Given the description of an element on the screen output the (x, y) to click on. 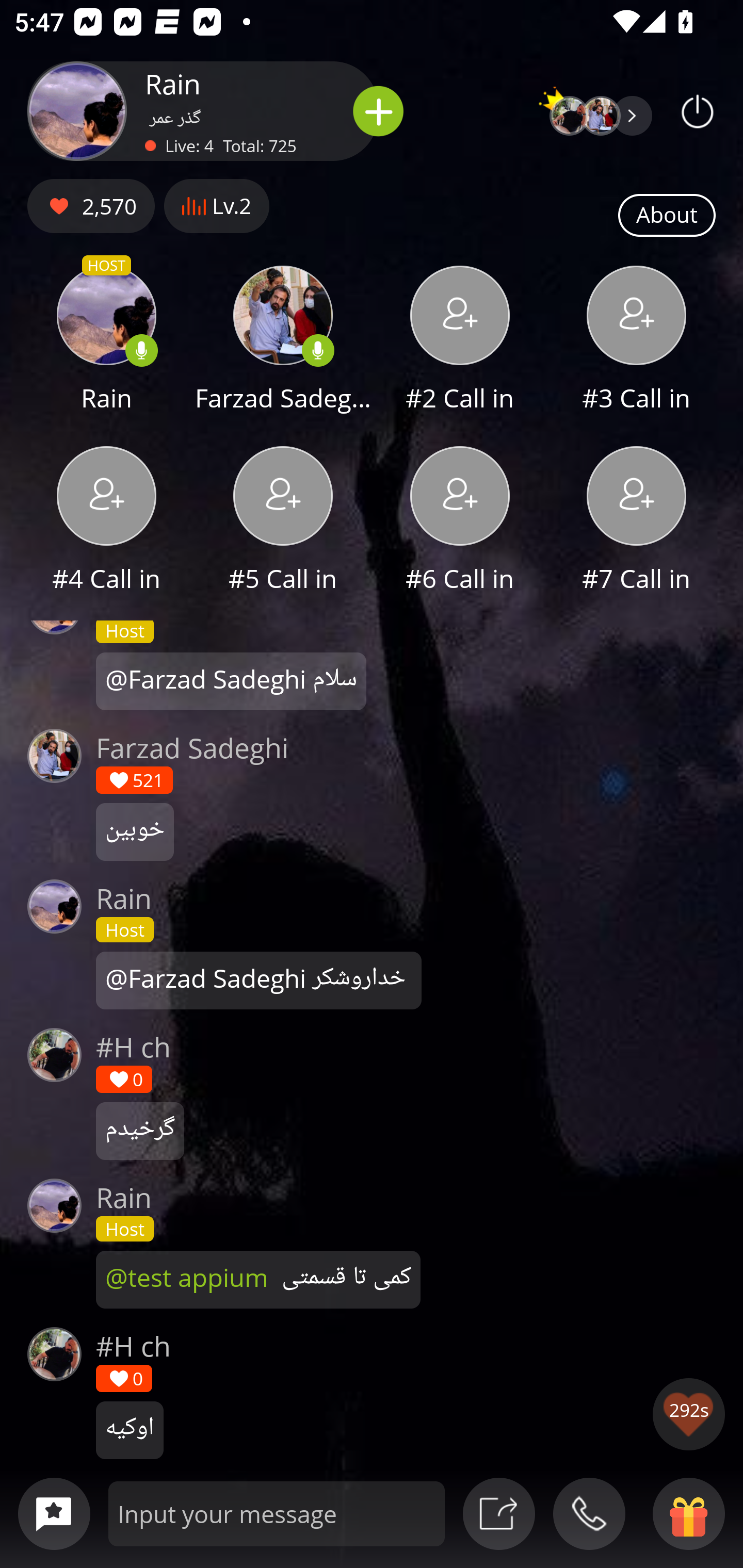
Podbean (697, 111)
About (666, 215)
HOST Rain (105, 340)
Farzad Sadeghi (282, 340)
#2 Call in (459, 340)
#3 Call in (636, 340)
#4 Call in (105, 521)
#5 Call in (282, 521)
#6 Call in (459, 521)
#7 Call in (636, 521)
Input your message (276, 1513)
